Given the description of an element on the screen output the (x, y) to click on. 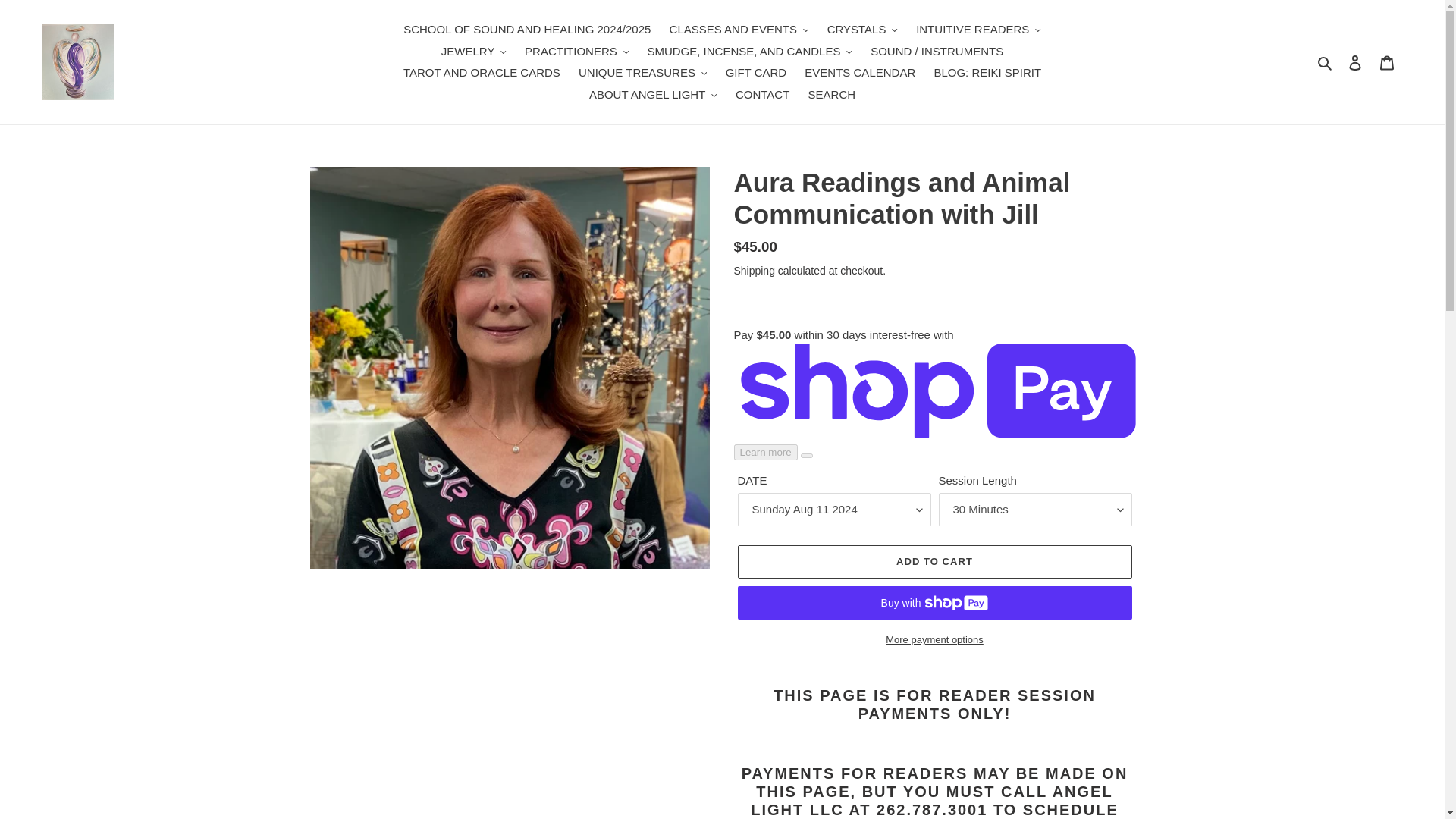
CLASSES AND EVENTS (739, 29)
CRYSTALS (862, 29)
INTUITIVE READERS (978, 29)
